Given the description of an element on the screen output the (x, y) to click on. 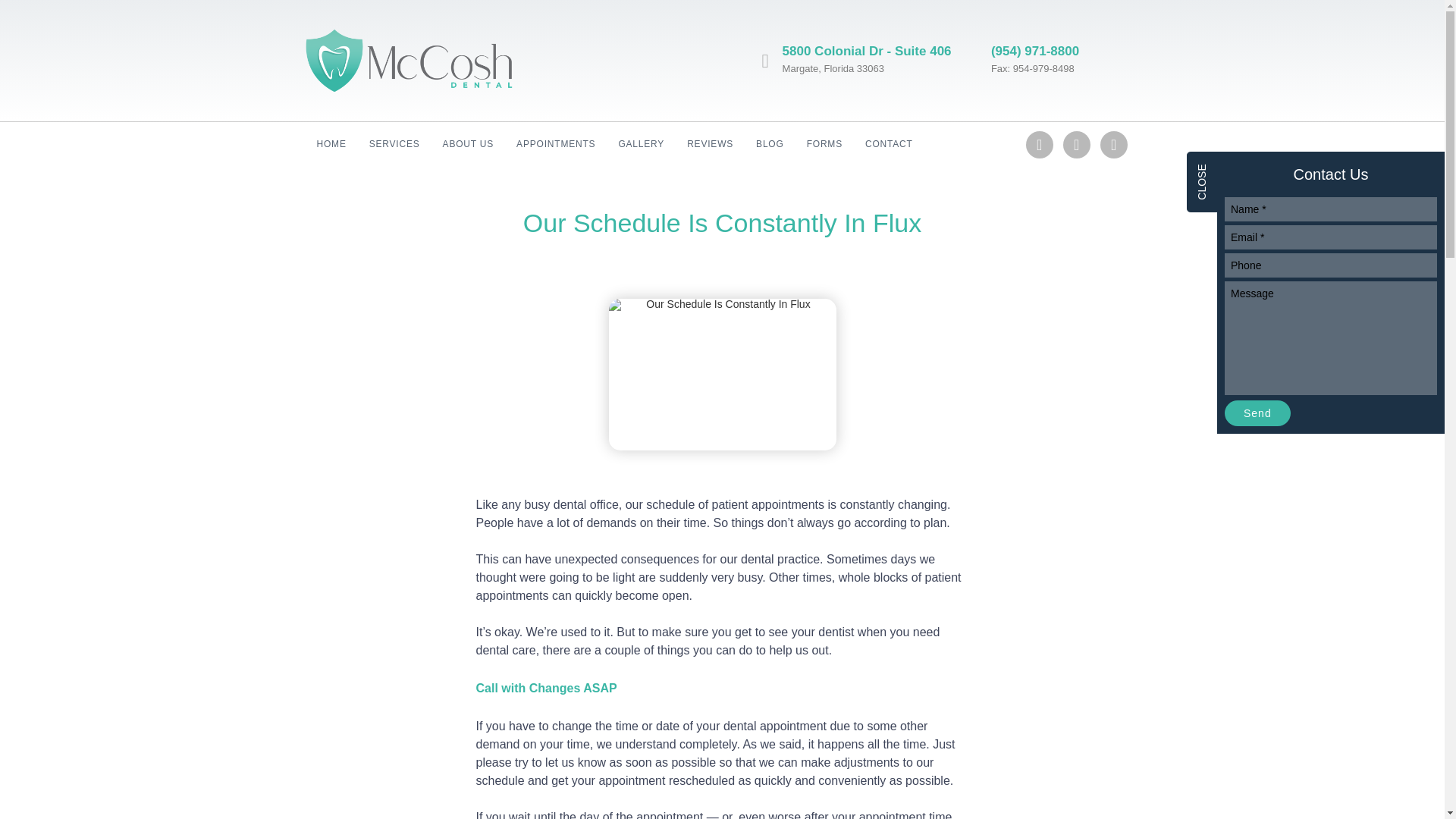
APPOINTMENTS (556, 144)
GALLERY (641, 144)
ABOUT US (467, 144)
Our Schedule Is Constantly In Flux (721, 374)
REVIEWS (709, 144)
HOME (330, 144)
BLOG (769, 144)
logo mc (408, 59)
FORMS (823, 144)
SERVICES (394, 144)
CONTACT (888, 144)
Send (1257, 412)
